Given the description of an element on the screen output the (x, y) to click on. 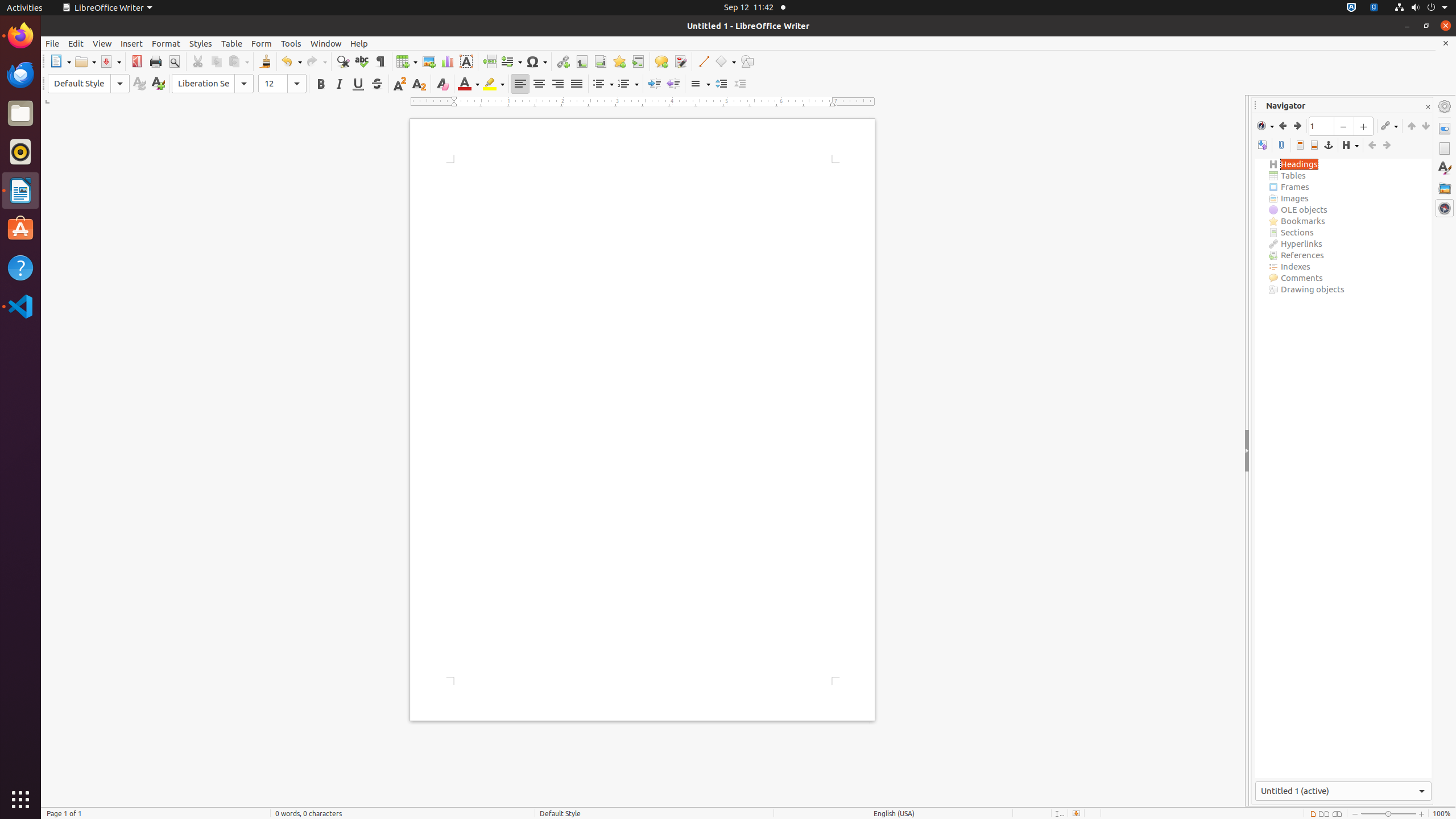
Save Element type: push-button (109, 61)
Files Element type: push-button (20, 113)
Footer Element type: push-button (1313, 144)
Bookmark Element type: push-button (618, 61)
Right Element type: toggle-button (557, 83)
